Given the description of an element on the screen output the (x, y) to click on. 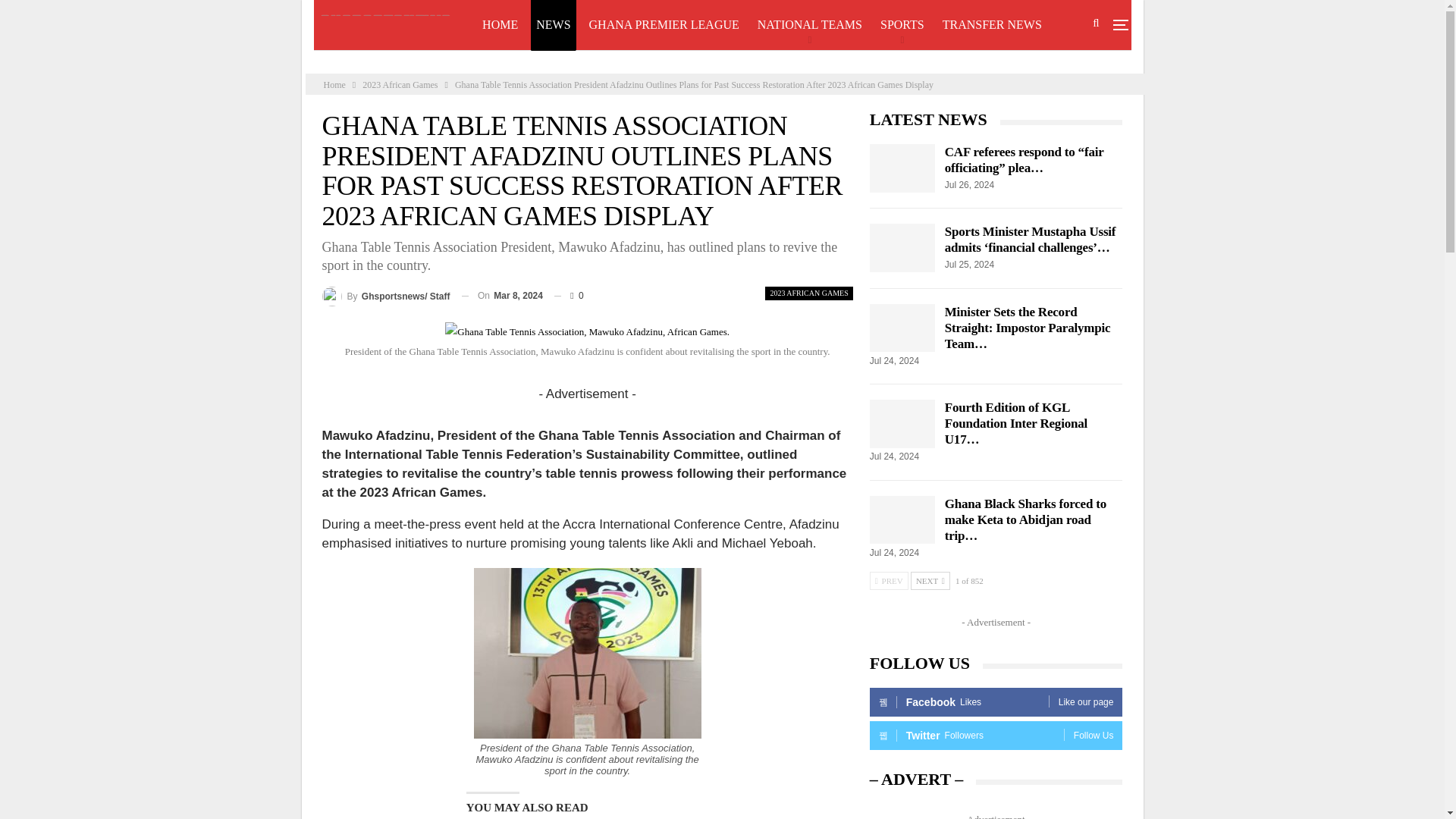
WOMEN FOOTBALL (539, 74)
SPORTS (902, 24)
NEWS (553, 24)
TRANSFER NEWS (991, 24)
HOME (499, 24)
2023 African Games (400, 84)
0 (568, 295)
2023 AFRICAN GAMES (808, 293)
Home (334, 84)
GHANA PREMIER LEAGUE (663, 24)
Browse Author Articles (385, 295)
NATIONAL TEAMS (809, 24)
